Given the description of an element on the screen output the (x, y) to click on. 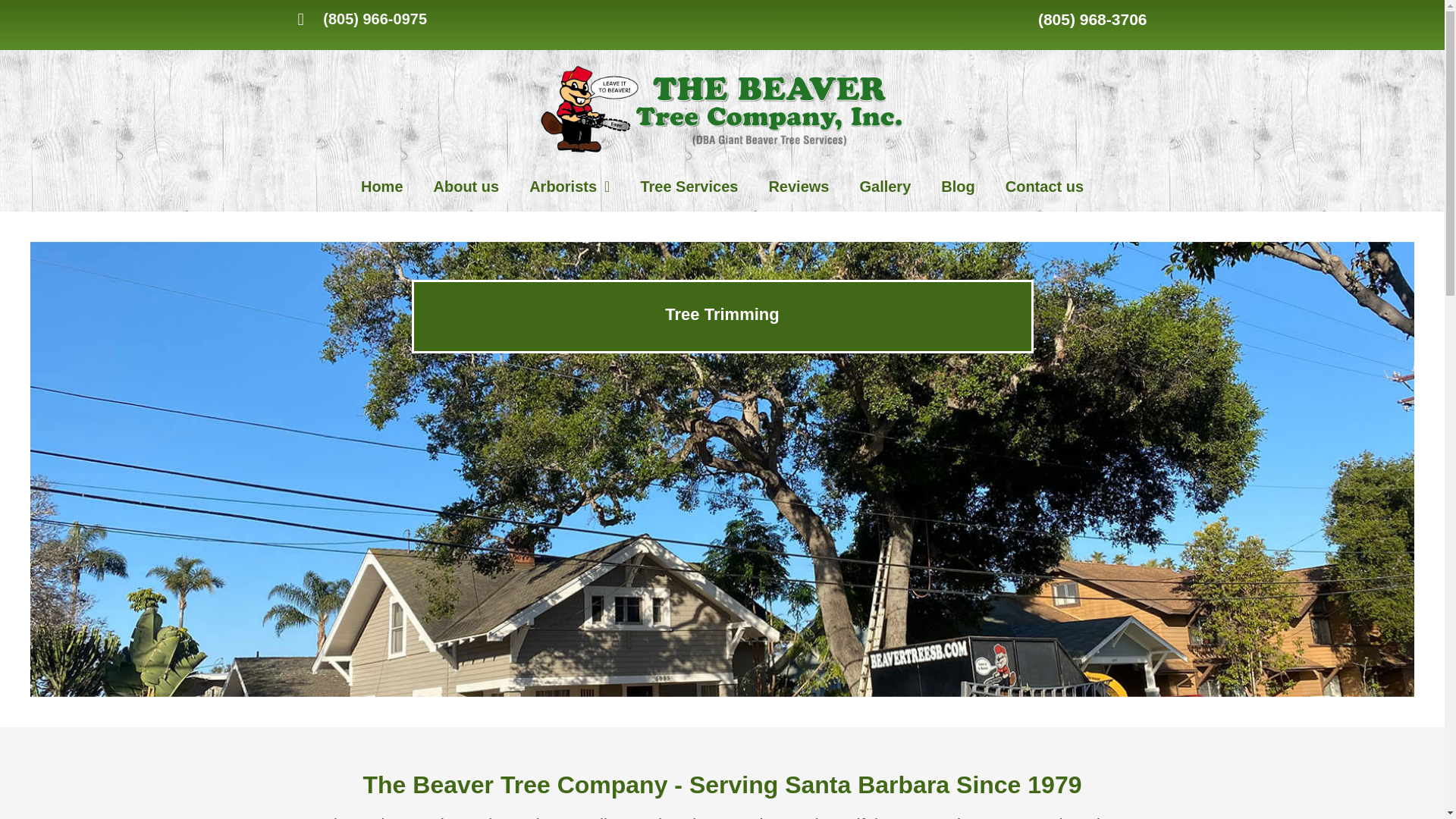
Arborists (568, 185)
Home (382, 185)
Blog (958, 185)
Reviews (798, 185)
Gallery (885, 185)
About us (467, 185)
Tree Services (688, 185)
Contact us (1044, 185)
